Given the description of an element on the screen output the (x, y) to click on. 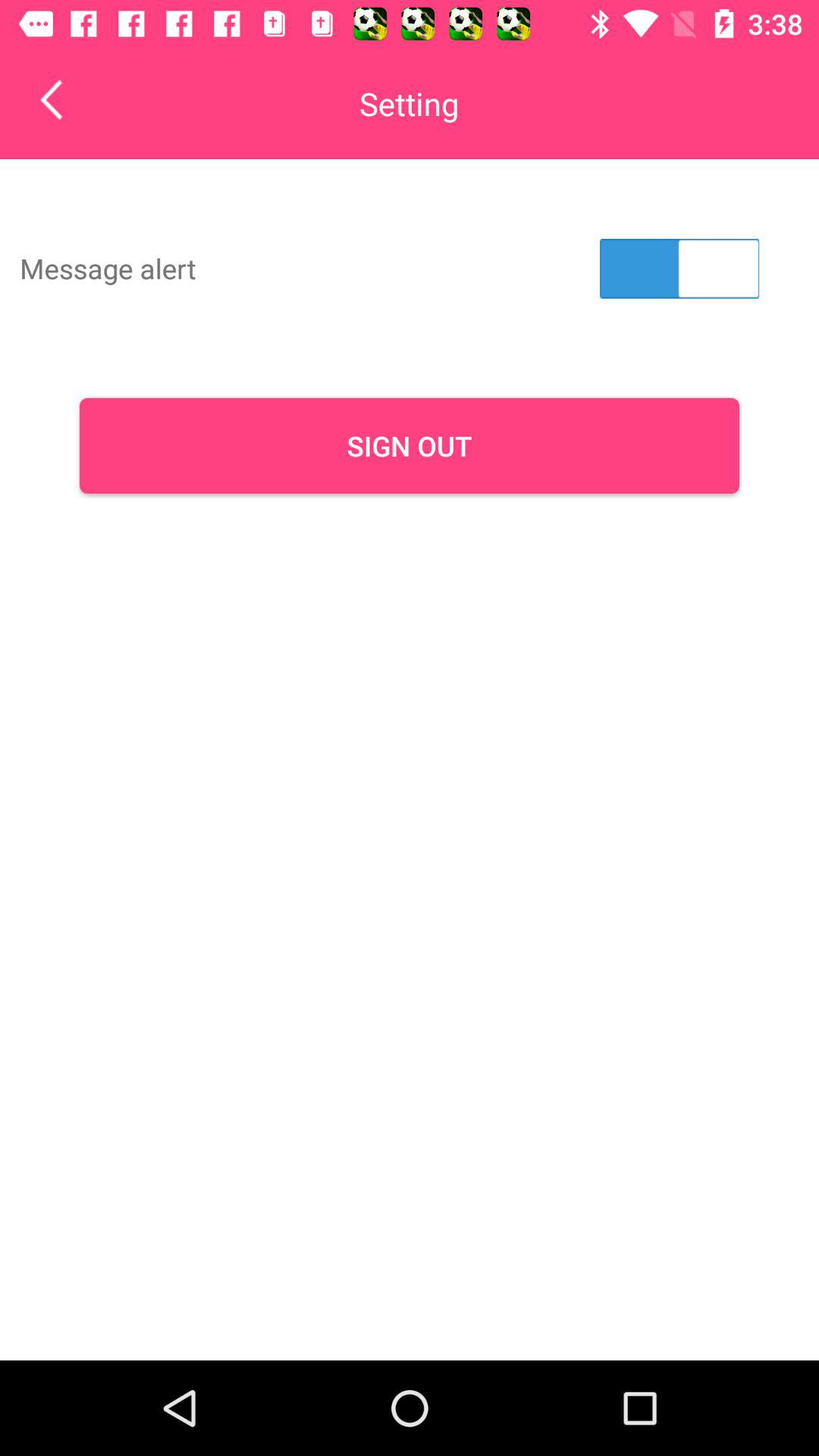
tap the icon above sign out (679, 268)
